Given the description of an element on the screen output the (x, y) to click on. 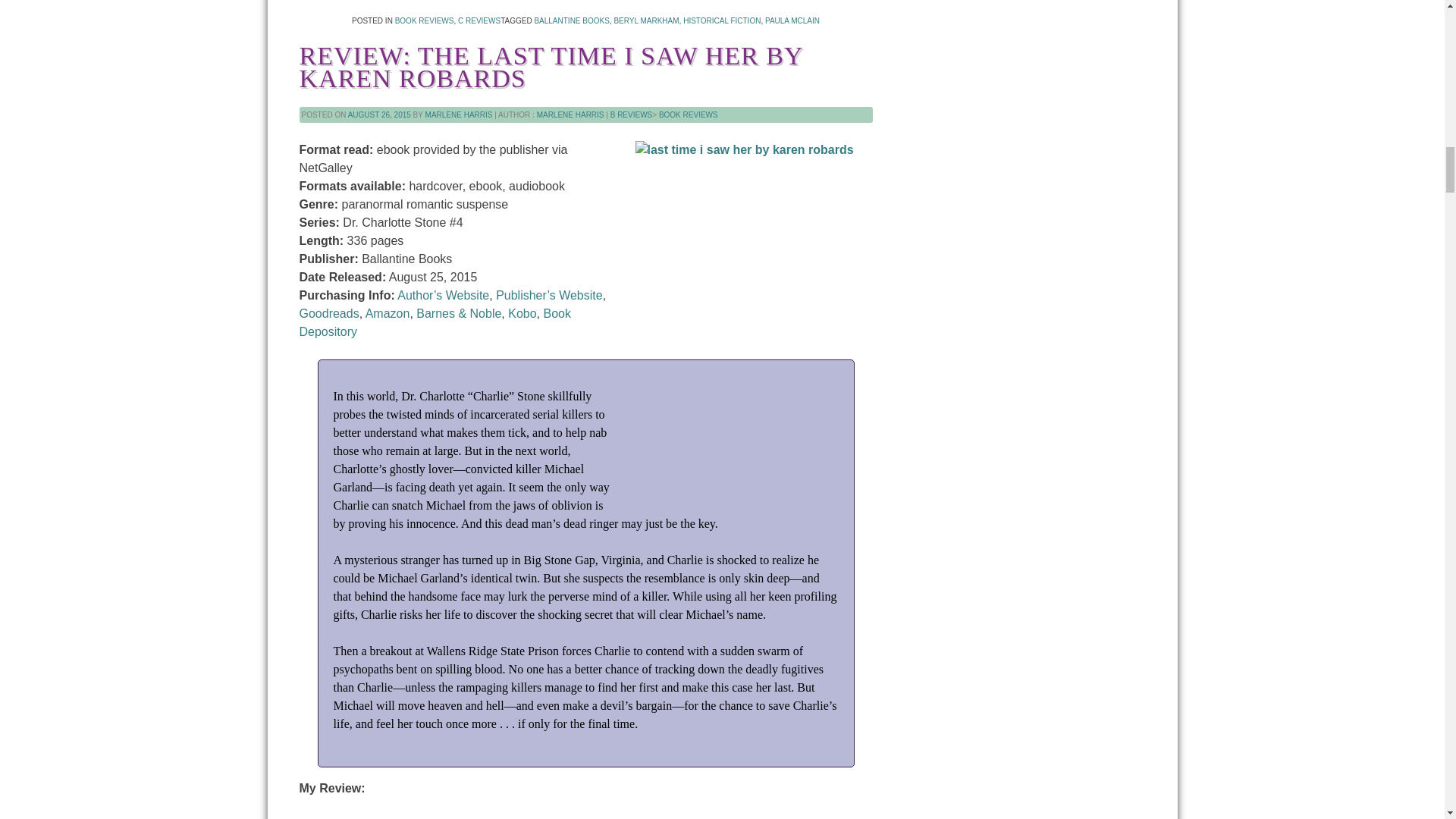
PAULA MCLAIN (792, 20)
BALLANTINE BOOKS (571, 20)
BERYL MARKHAM (645, 20)
BOOK REVIEWS (424, 20)
REVIEW: THE LAST TIME I SAW HER BY KAREN ROBARDS (550, 66)
HISTORICAL FICTION (721, 20)
Posts by Marlene Harris (570, 114)
C REVIEWS (479, 20)
